Given the description of an element on the screen output the (x, y) to click on. 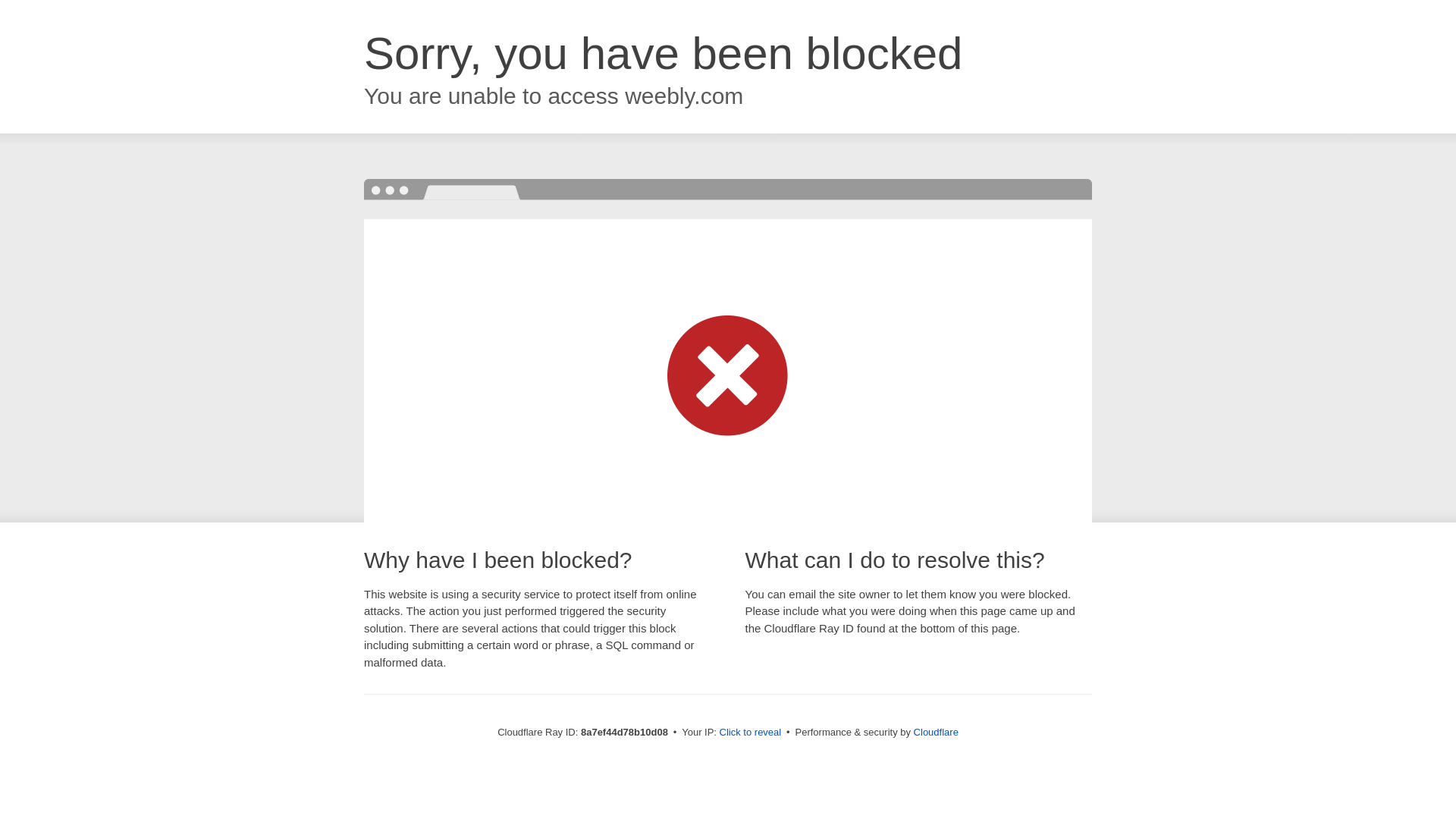
Cloudflare (936, 731)
Click to reveal (750, 732)
